Given the description of an element on the screen output the (x, y) to click on. 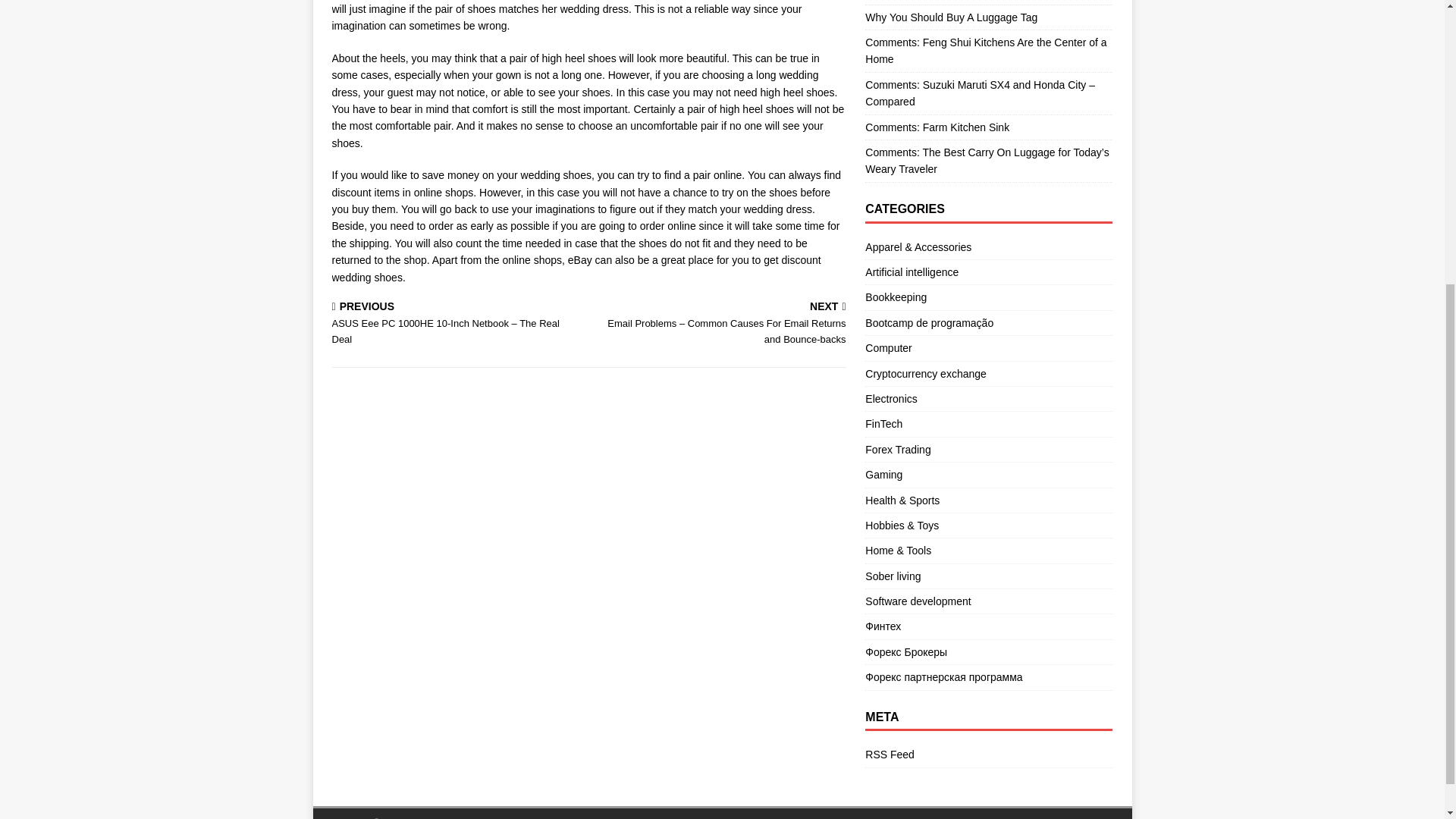
Why You Should Buy A Luggage Tag (950, 17)
Gaming (988, 474)
FinTech (988, 423)
Forex Trading (988, 449)
Computer (988, 347)
Comments: Feng Shui Kitchens Are the Center of a Home (985, 50)
Cryptocurrency exchange (988, 373)
Comments: Farm Kitchen Sink (936, 127)
Artificial intelligence (988, 272)
Electronics (988, 398)
